Given the description of an element on the screen output the (x, y) to click on. 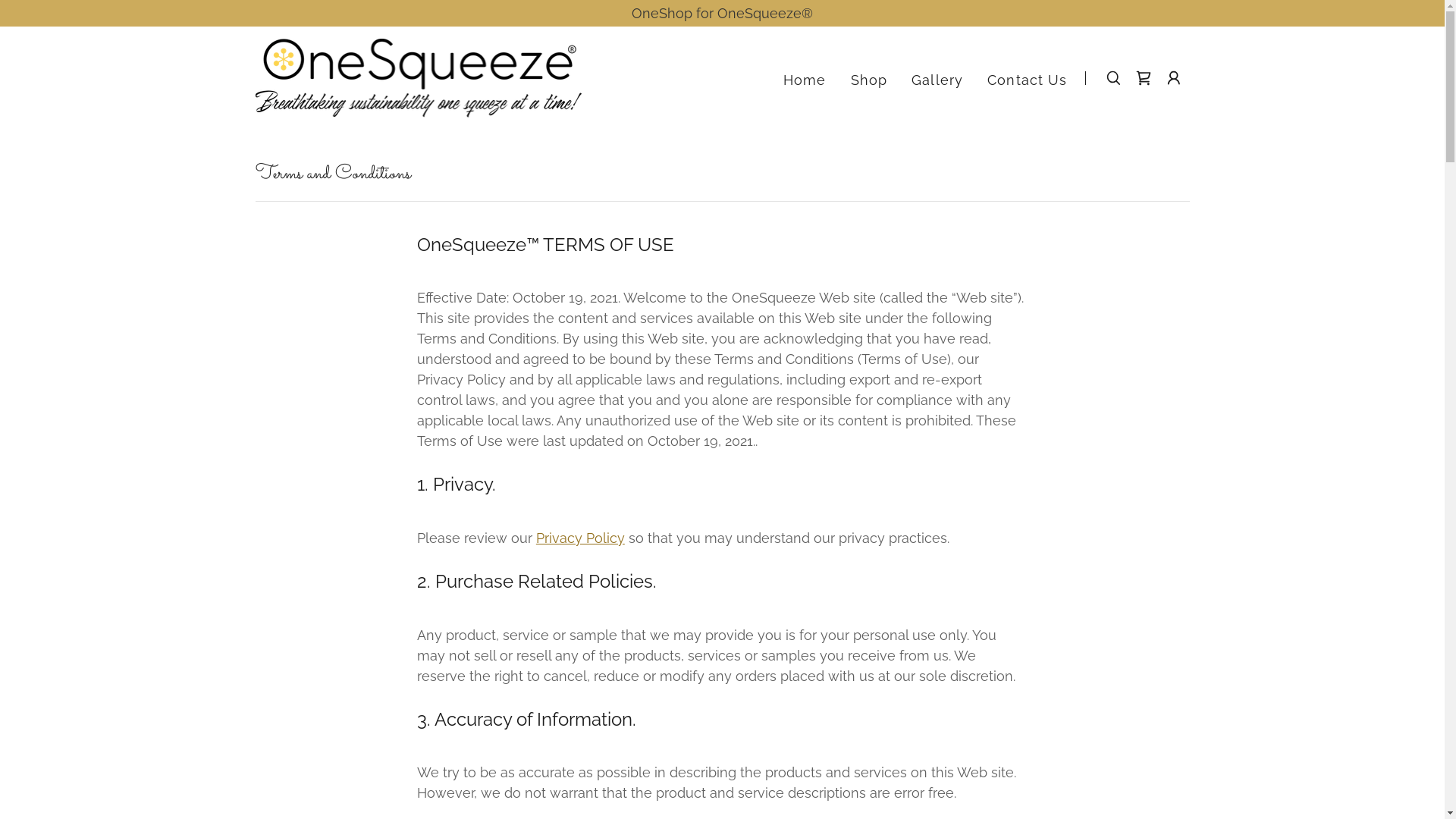
Gallery Element type: text (936, 80)
Shop Element type: text (869, 80)
Contact Us Element type: text (1026, 80)
Privacy Policy Element type: text (580, 538)
OneSqueeze Element type: hover (417, 76)
Home Element type: text (804, 80)
